Given the description of an element on the screen output the (x, y) to click on. 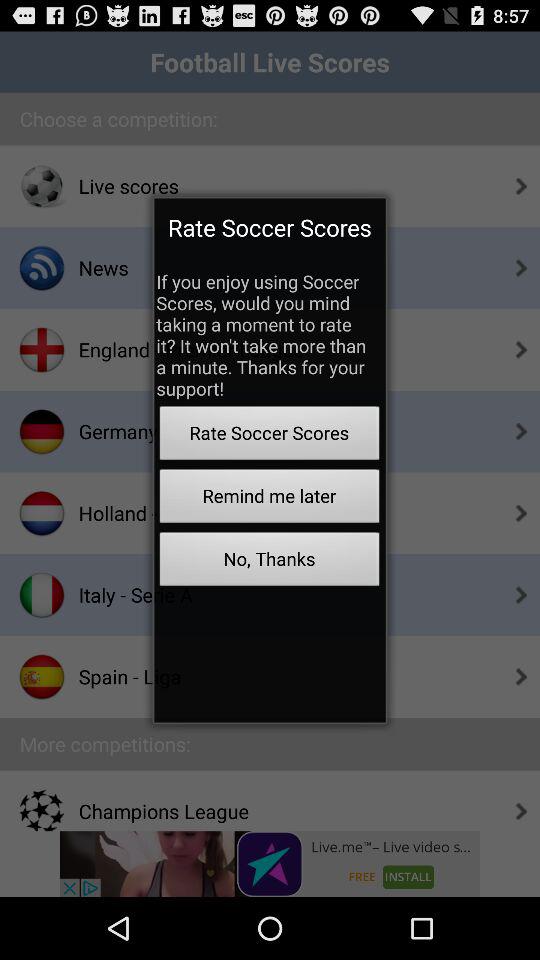
swipe until the remind me later button (269, 498)
